Given the description of an element on the screen output the (x, y) to click on. 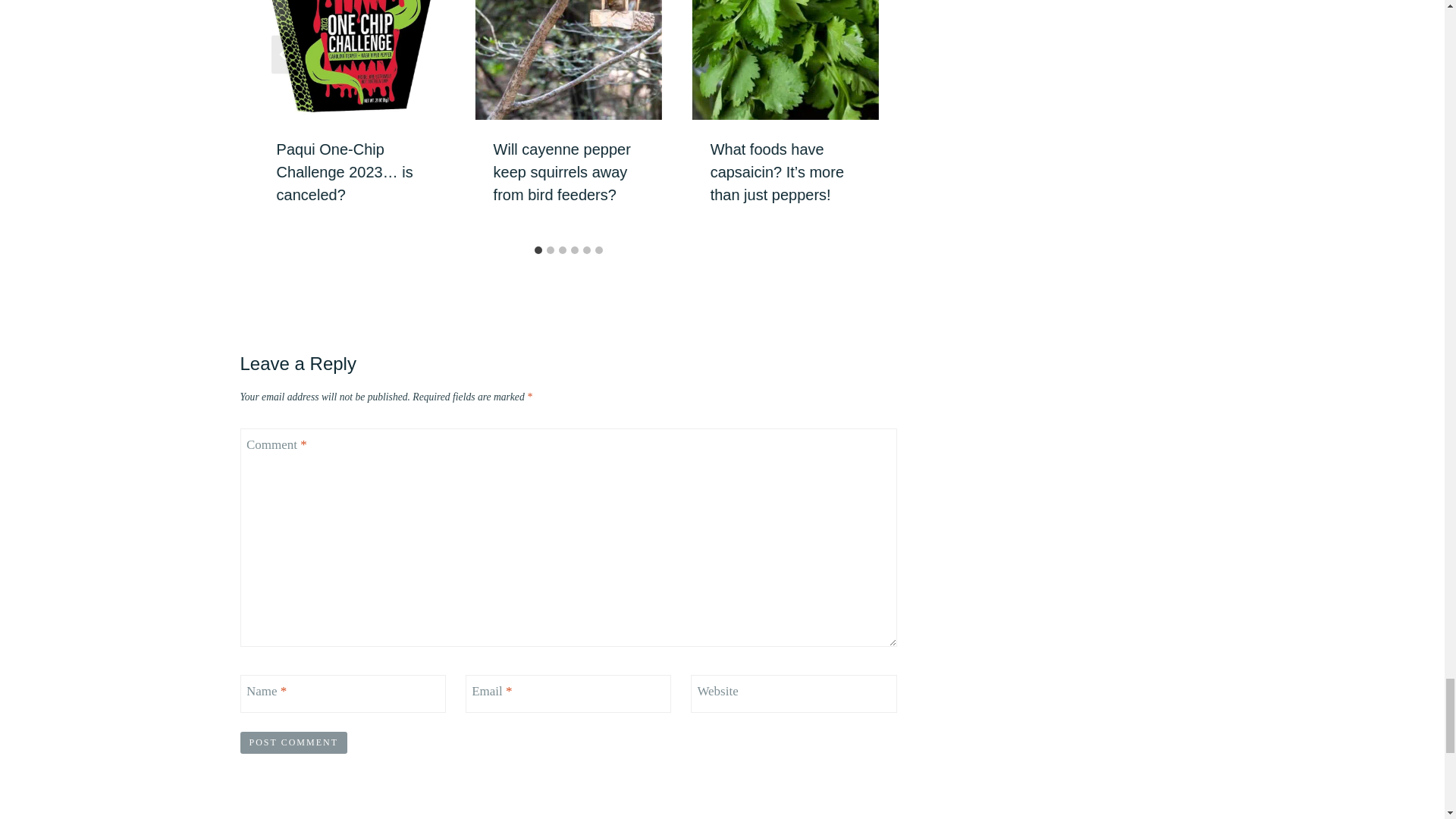
Post Comment (293, 742)
